Given the description of an element on the screen output the (x, y) to click on. 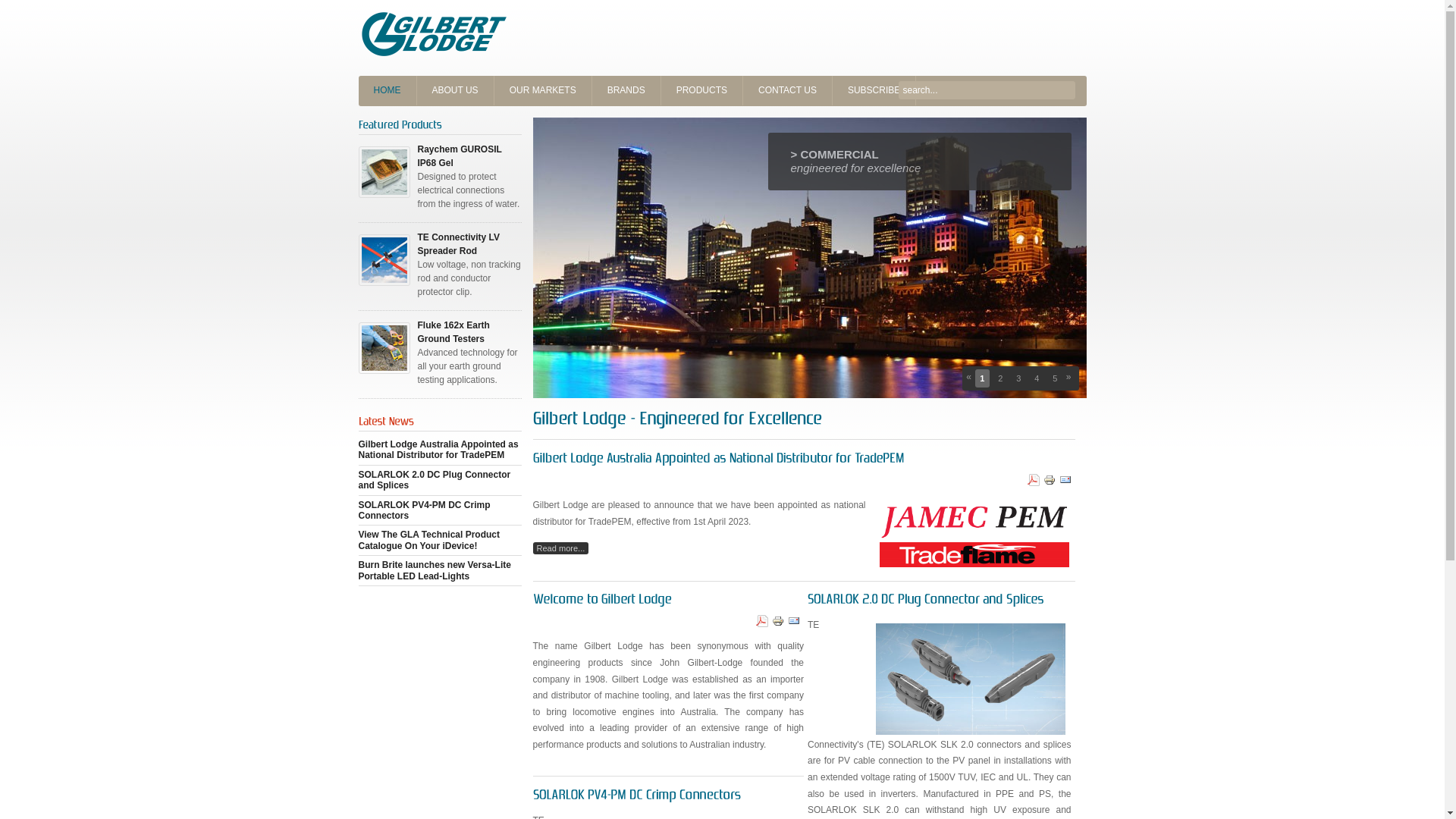
BRANDS Element type: text (626, 90)
Raychem GUROSIL IP68 Gel Element type: text (459, 156)
Burn Brite launches new Versa-Lite Portable LED Lead-Lights Element type: text (433, 569)
OUR MARKETS Element type: text (543, 90)
PRODUCTS Element type: text (702, 90)
SOLARLOK 2.0 DC Plug Connector and Splices Element type: text (433, 479)
Fluke 162x Earth Ground Testers Element type: text (453, 332)
CONTACT US Element type: text (787, 90)
HOME Element type: text (386, 90)
SUBSCRIBE Element type: text (874, 90)
TE Connectivity LV Spreader Rod Element type: text (457, 244)
Gilbert Lodge Element type: hover (433, 33)
SOLARLOK PV4-PM DC Crimp Connectors Element type: text (423, 509)
ABOUT US Element type: text (455, 90)
Read more... Element type: text (560, 548)
View The GLA Technical Product Catalogue On Your iDevice! Element type: text (427, 539)
